Given the description of an element on the screen output the (x, y) to click on. 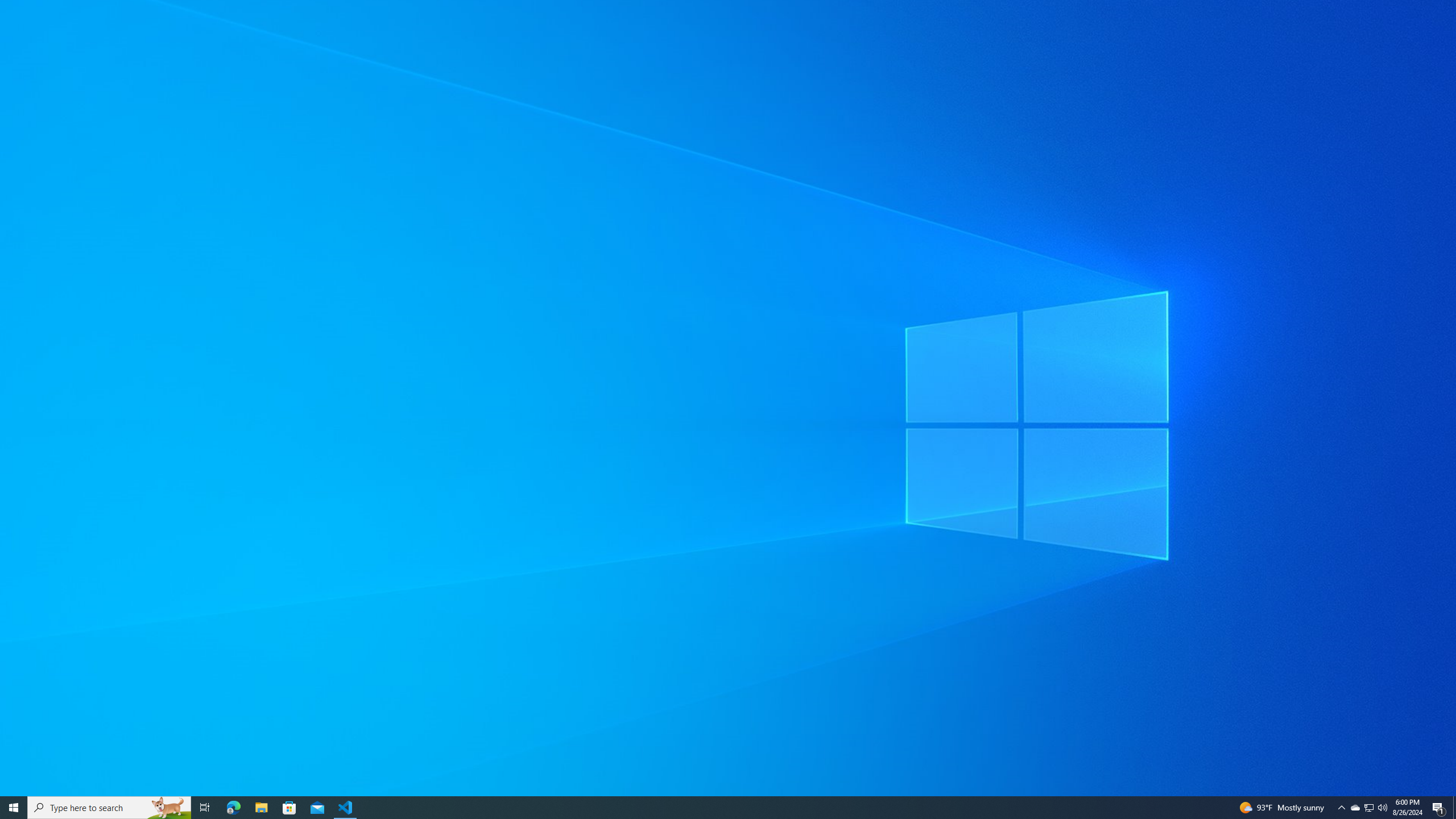
Q2790: 100% (1382, 807)
File Explorer (261, 807)
Microsoft Edge (233, 807)
User Promoted Notification Area (1368, 807)
